Given the description of an element on the screen output the (x, y) to click on. 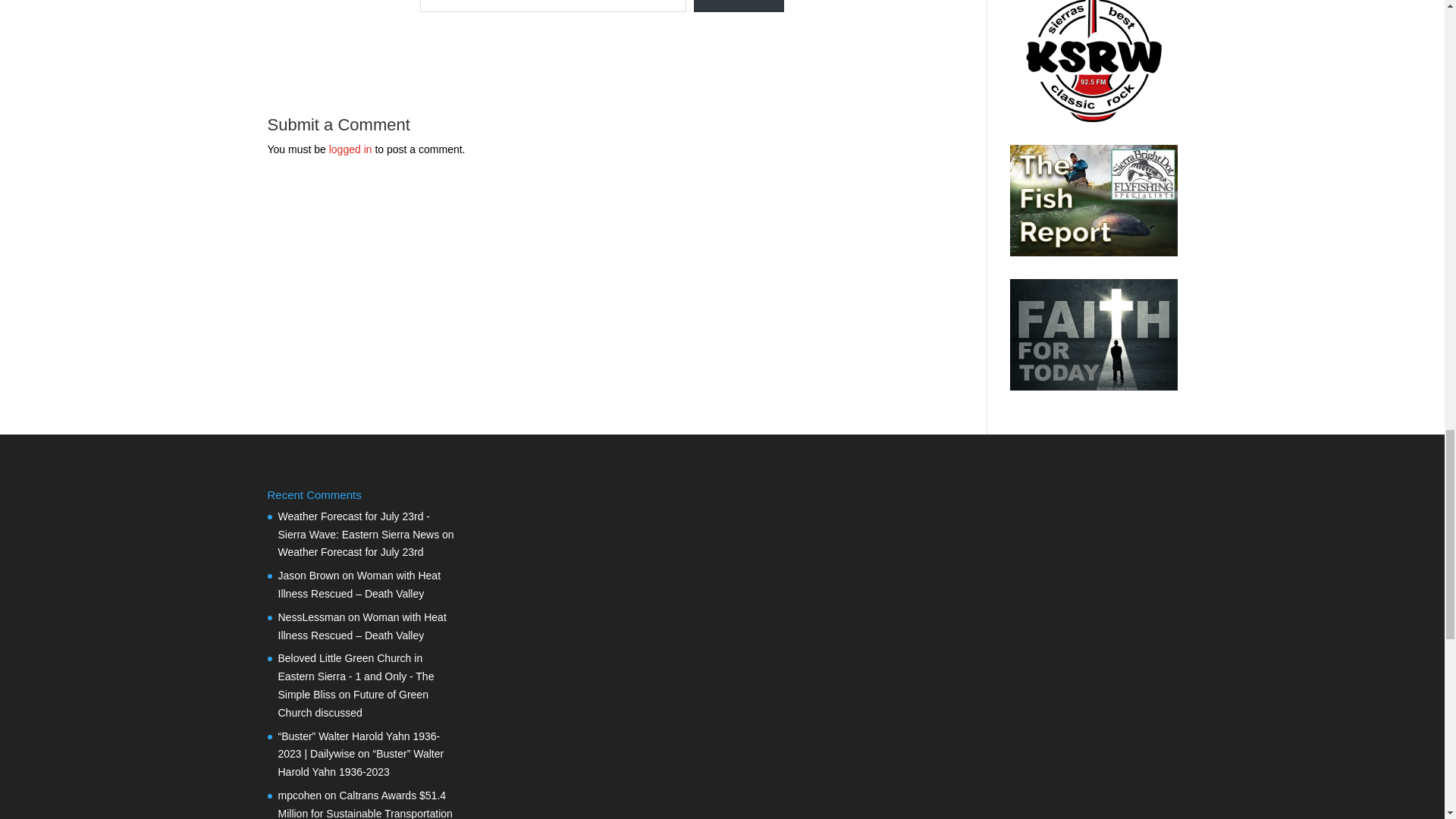
Subscribe (739, 6)
logged in (350, 149)
